Given the description of an element on the screen output the (x, y) to click on. 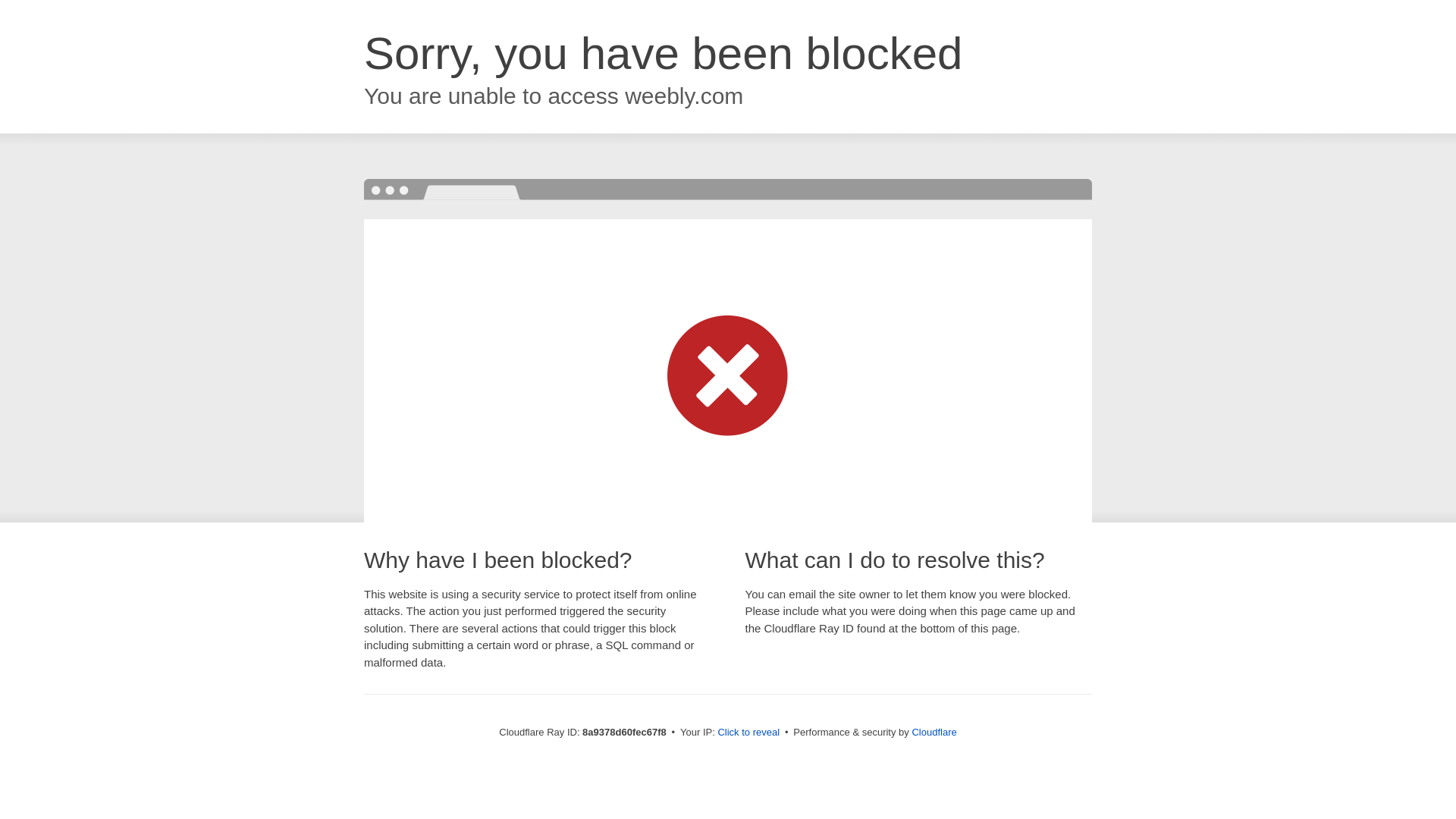
Click to reveal (747, 732)
Cloudflare (933, 731)
